Given the description of an element on the screen output the (x, y) to click on. 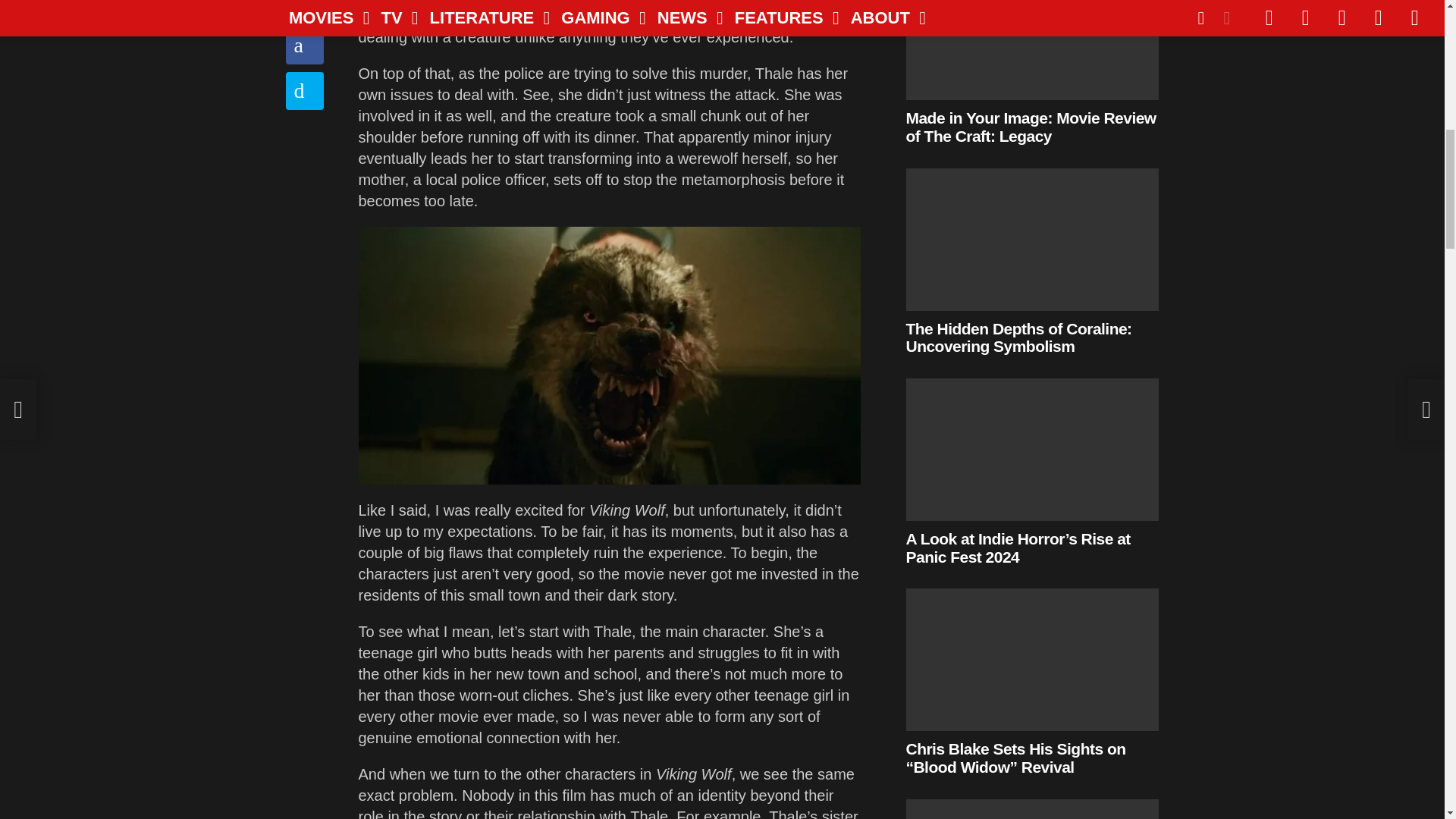
The Hidden Depths of Coraline: Uncovering Symbolism (1031, 239)
Made in Your Image: Movie Review of The Craft: Legacy (1031, 49)
